Given the description of an element on the screen output the (x, y) to click on. 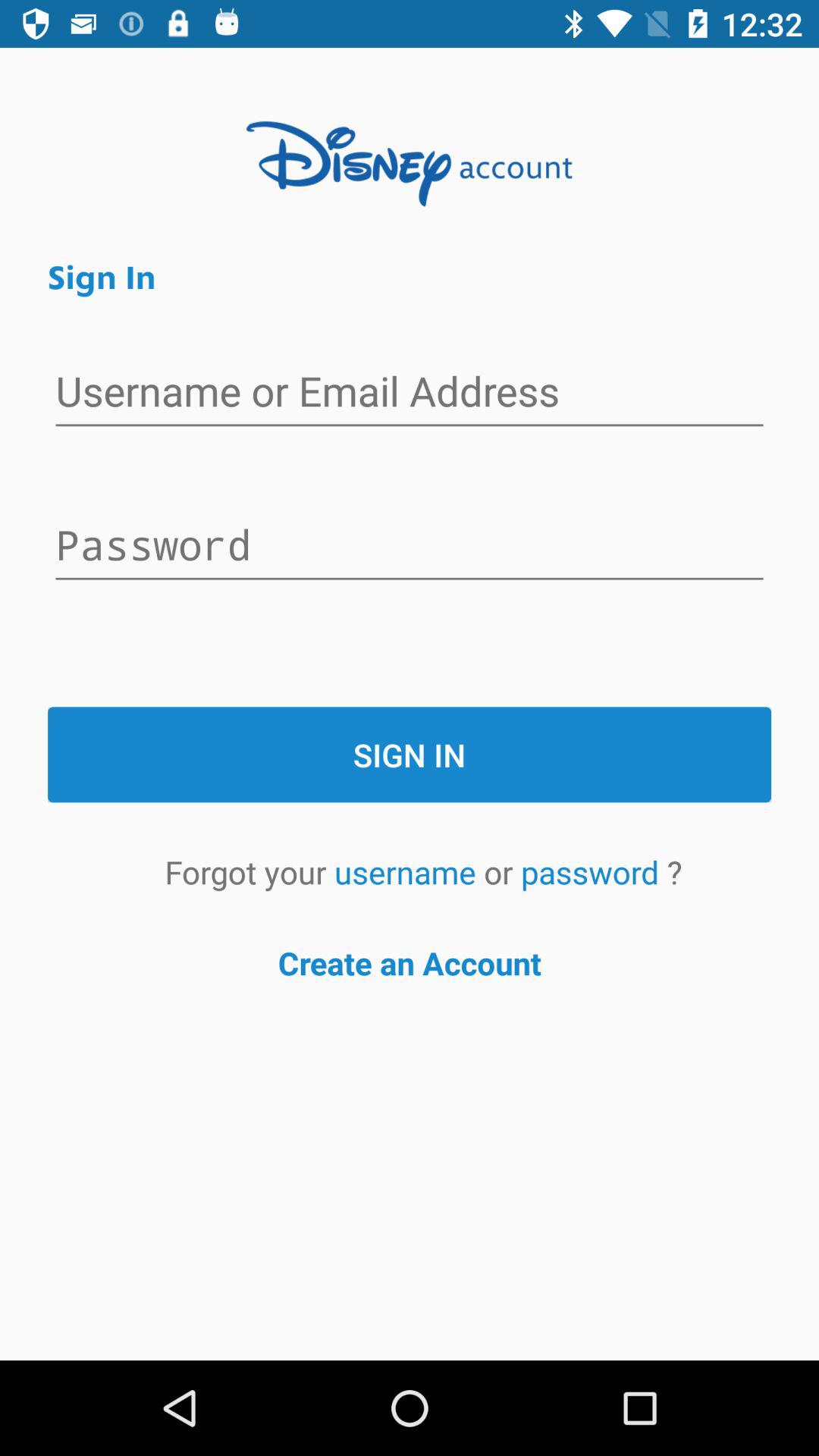
password sign in field (409, 546)
